Given the description of an element on the screen output the (x, y) to click on. 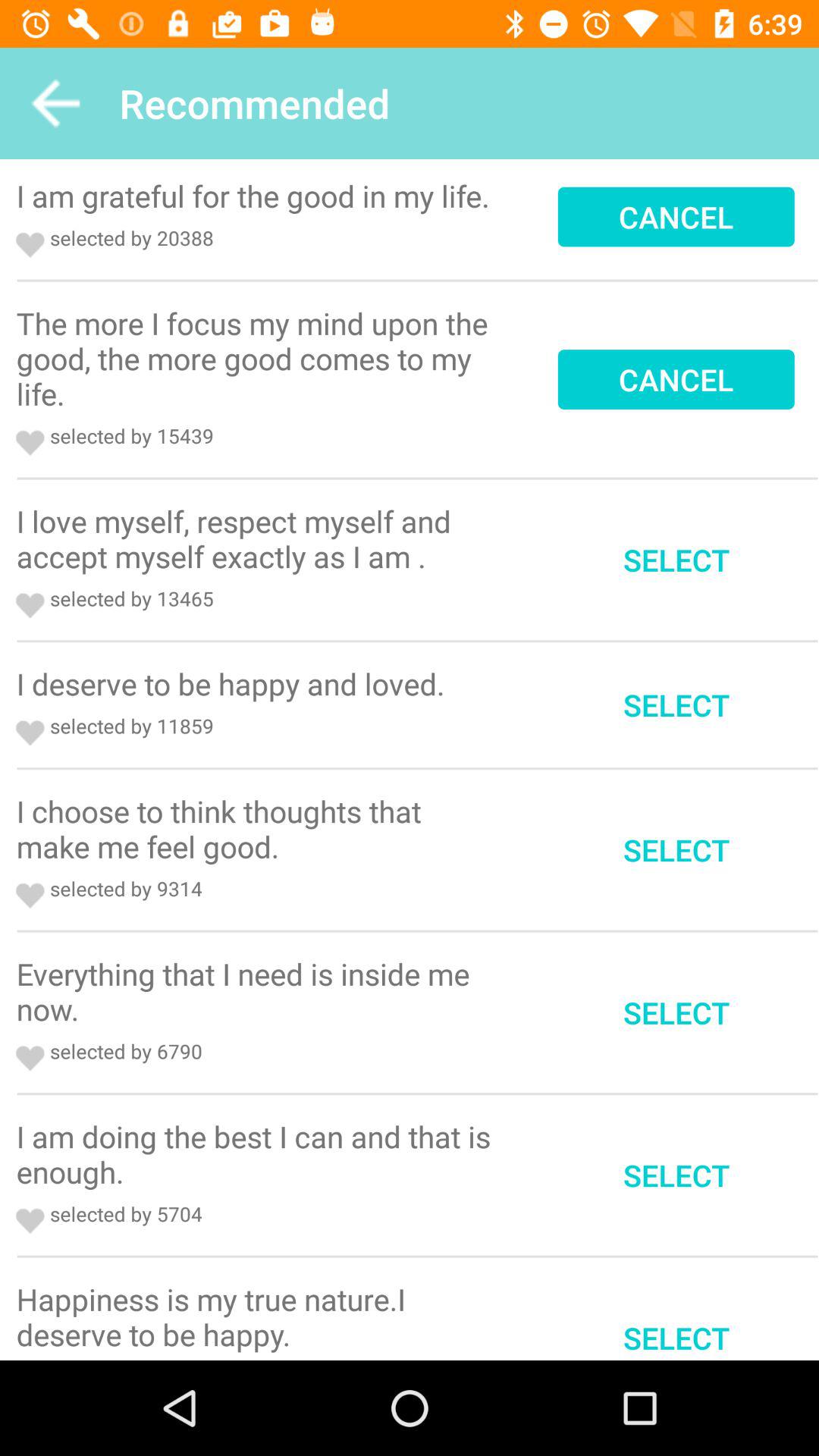
choose item above i am grateful icon (55, 103)
